Given the description of an element on the screen output the (x, y) to click on. 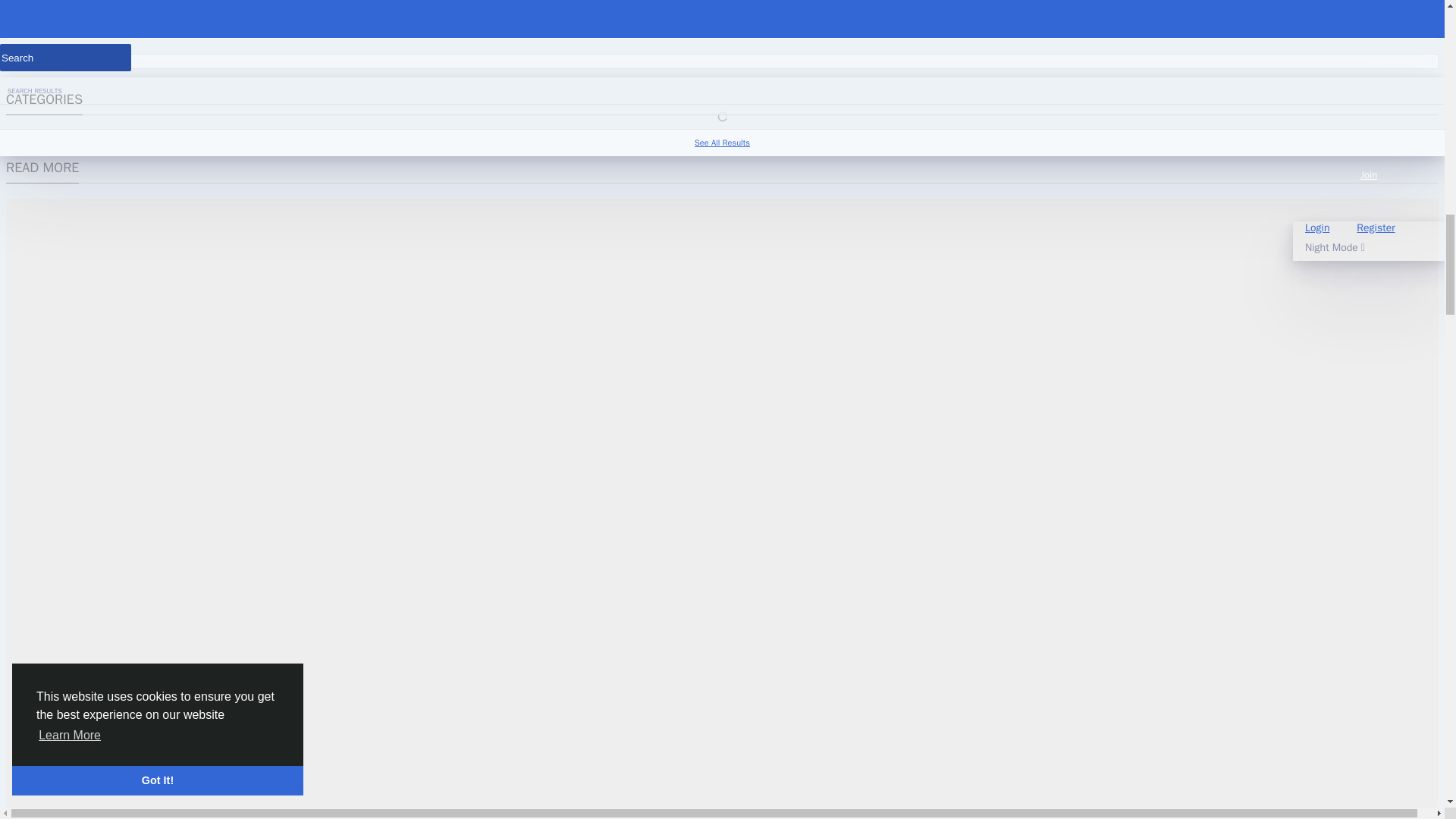
MUSIC (743, 139)
GARDENING (501, 139)
PARTY (925, 139)
HEALTH (566, 139)
LITERATURE (680, 139)
OTHER (875, 139)
HOME (619, 139)
GAMES (437, 139)
Please log in to like, share and comment! (106, 23)
FITNESS (334, 139)
NETWORKING (808, 139)
ART (22, 139)
DRINKS (235, 139)
CAUSES (72, 139)
FILM (284, 139)
